Given the description of an element on the screen output the (x, y) to click on. 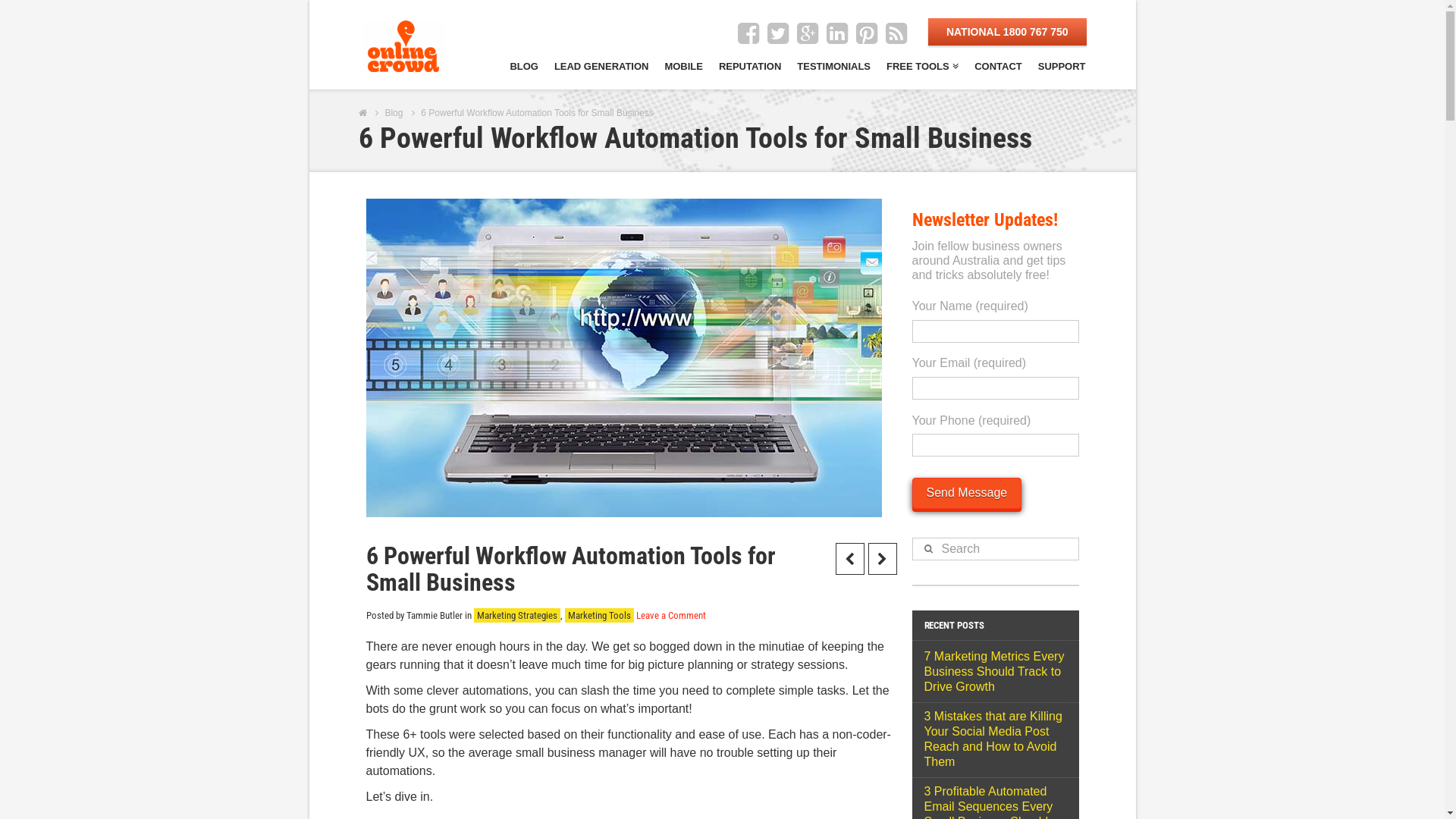
BLOG Element type: text (523, 63)
CONTACT Element type: text (997, 63)
Send Message Element type: text (966, 492)
Leave a Comment Element type: text (670, 615)
Google+ Element type: hover (807, 33)
NATIONAL 1800 767 750 Element type: text (1007, 31)
LinkedIn Element type: hover (836, 33)
Blog Element type: text (393, 112)
REPUTATION Element type: text (749, 63)
Pinterest Element type: hover (866, 33)
MOBILE Element type: text (682, 63)
Lead Generation Services (1800) 767 750 Element type: hover (403, 46)
LEAD GENERATION Element type: text (601, 63)
Twitter Element type: hover (777, 33)
Marketing Tools Element type: text (598, 615)
FREE TOOLS Element type: text (922, 63)
TESTIMONIALS Element type: text (833, 63)
SUPPORT Element type: text (1057, 63)
RSS Element type: hover (895, 33)
Facebook Element type: hover (748, 33)
Marketing Strategies Element type: text (516, 615)
